Given the description of an element on the screen output the (x, y) to click on. 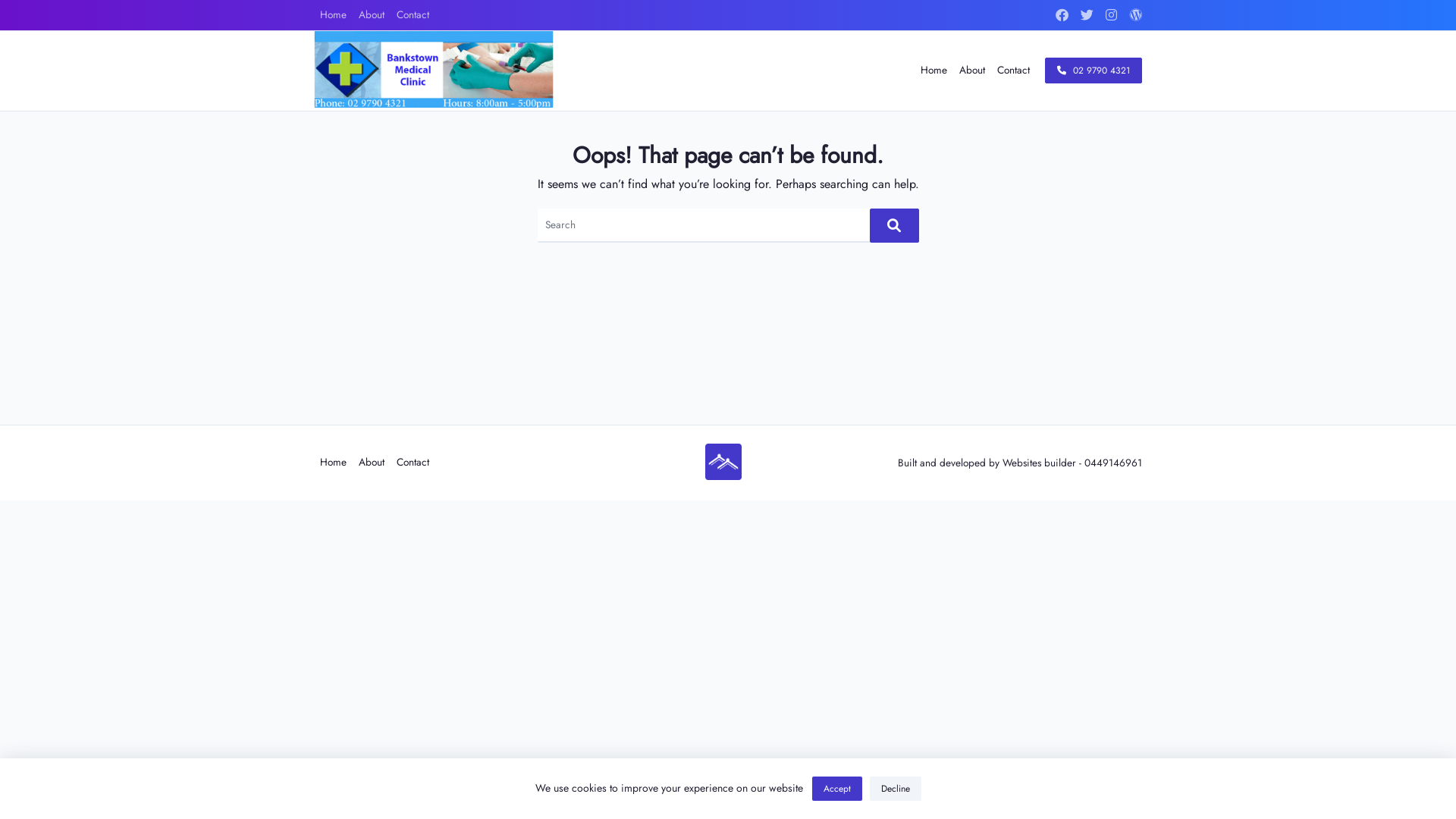
Home Element type: text (332, 14)
Decline Element type: text (894, 788)
About Element type: text (972, 70)
Contact Element type: text (1013, 70)
Contact Element type: text (412, 14)
Contact Element type: text (412, 462)
About Element type: text (371, 14)
Home Element type: text (332, 462)
Accept Element type: text (836, 788)
Home Element type: text (933, 70)
About Element type: text (371, 462)
02 9790 4321 Element type: text (1093, 70)
